Given the description of an element on the screen output the (x, y) to click on. 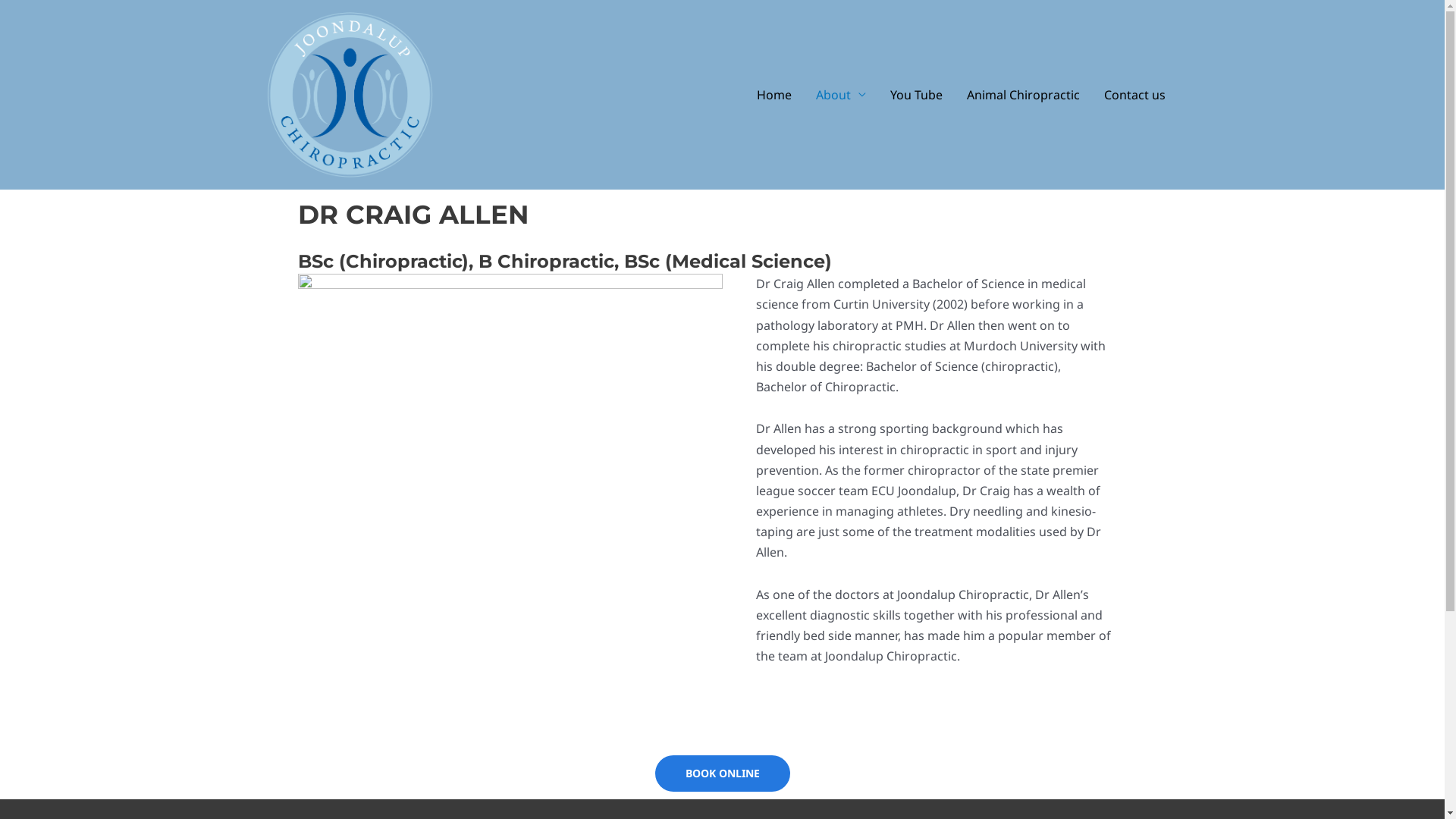
About Element type: text (840, 94)
Animal Chiropractic Element type: text (1022, 94)
BOOK ONLINE Element type: text (722, 773)
Contact us Element type: text (1134, 94)
You Tube Element type: text (916, 94)
Home Element type: text (773, 94)
